Given the description of an element on the screen output the (x, y) to click on. 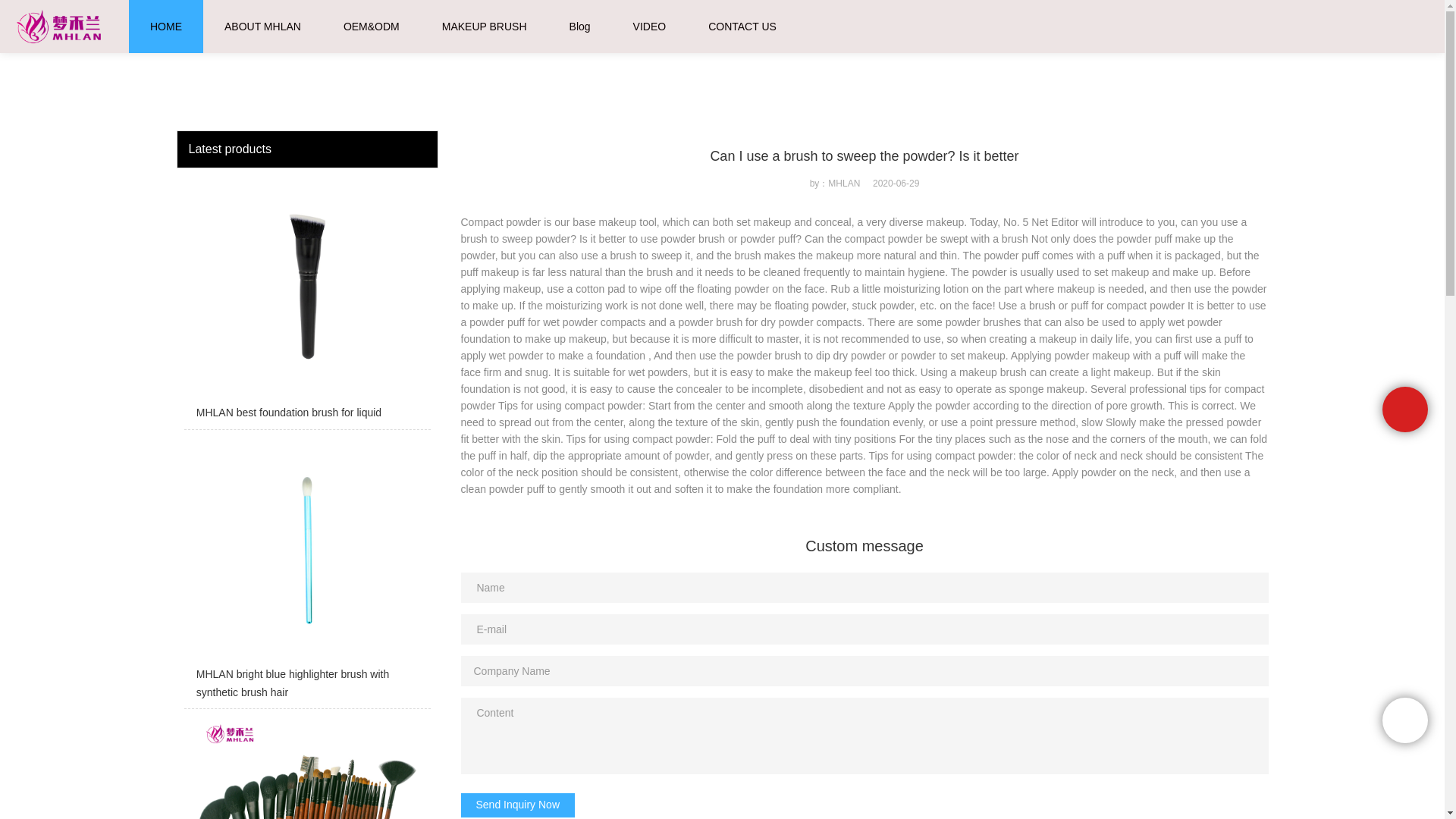
MHLAN (192, 13)
HOME (165, 26)
MAKEUP BRUSH (484, 26)
Send Inquiry Now (518, 805)
VIDEO (649, 26)
MHLAN best foundation brush for liquid (306, 302)
26 pcs animal hair professional makeup brush kit with bags (306, 767)
CONTACT US (741, 26)
ABOUT MHLAN (262, 26)
Blog (580, 26)
